Given the description of an element on the screen output the (x, y) to click on. 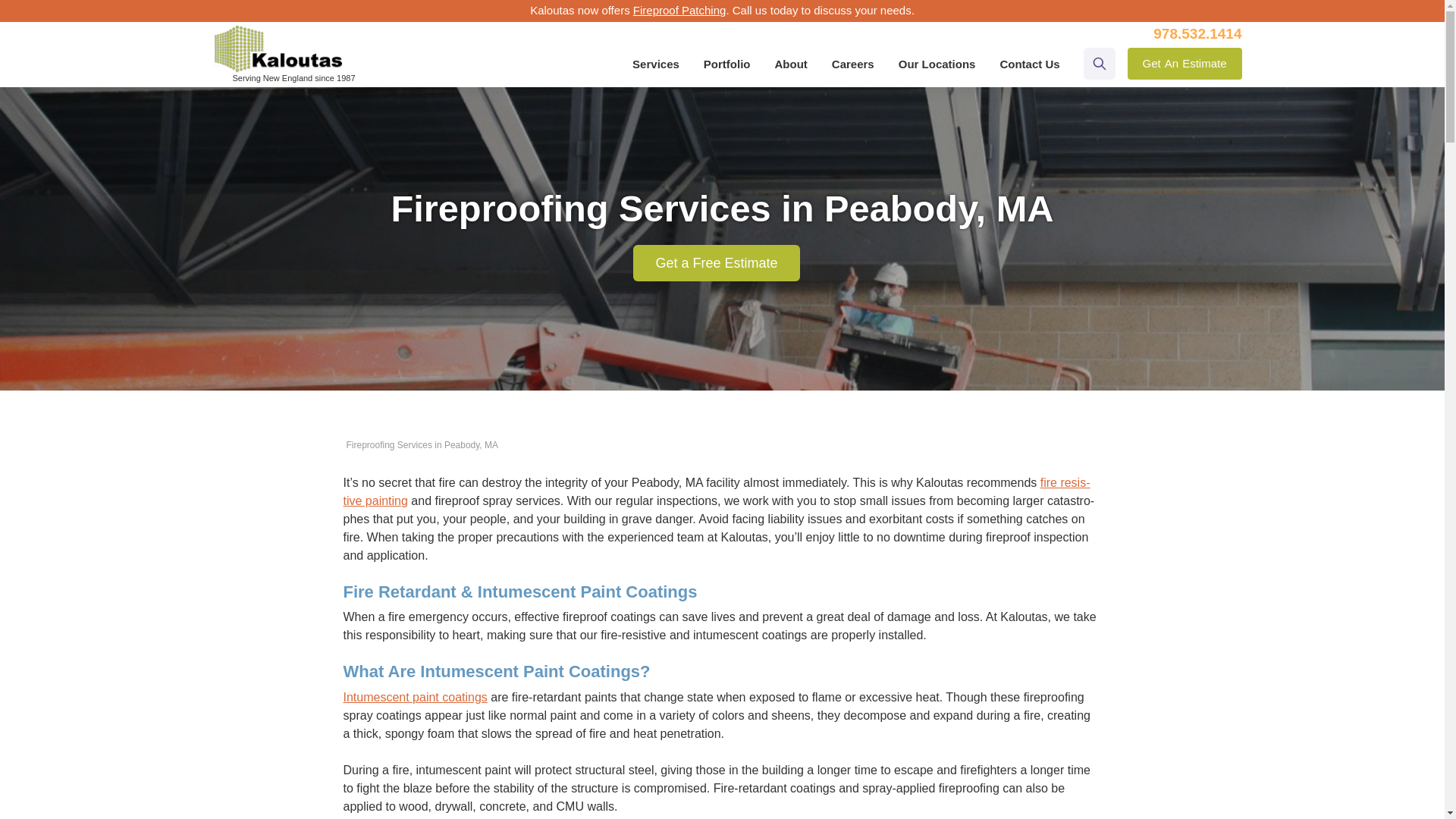
Get a Free Estimate (716, 262)
Fireproofing Services in Peabody, MA (421, 444)
978.532.1414 (1183, 63)
Contact Us (1197, 33)
Serving New England since 1987 (1029, 64)
Fireproof Patching (277, 43)
Careers (679, 10)
